Given the description of an element on the screen output the (x, y) to click on. 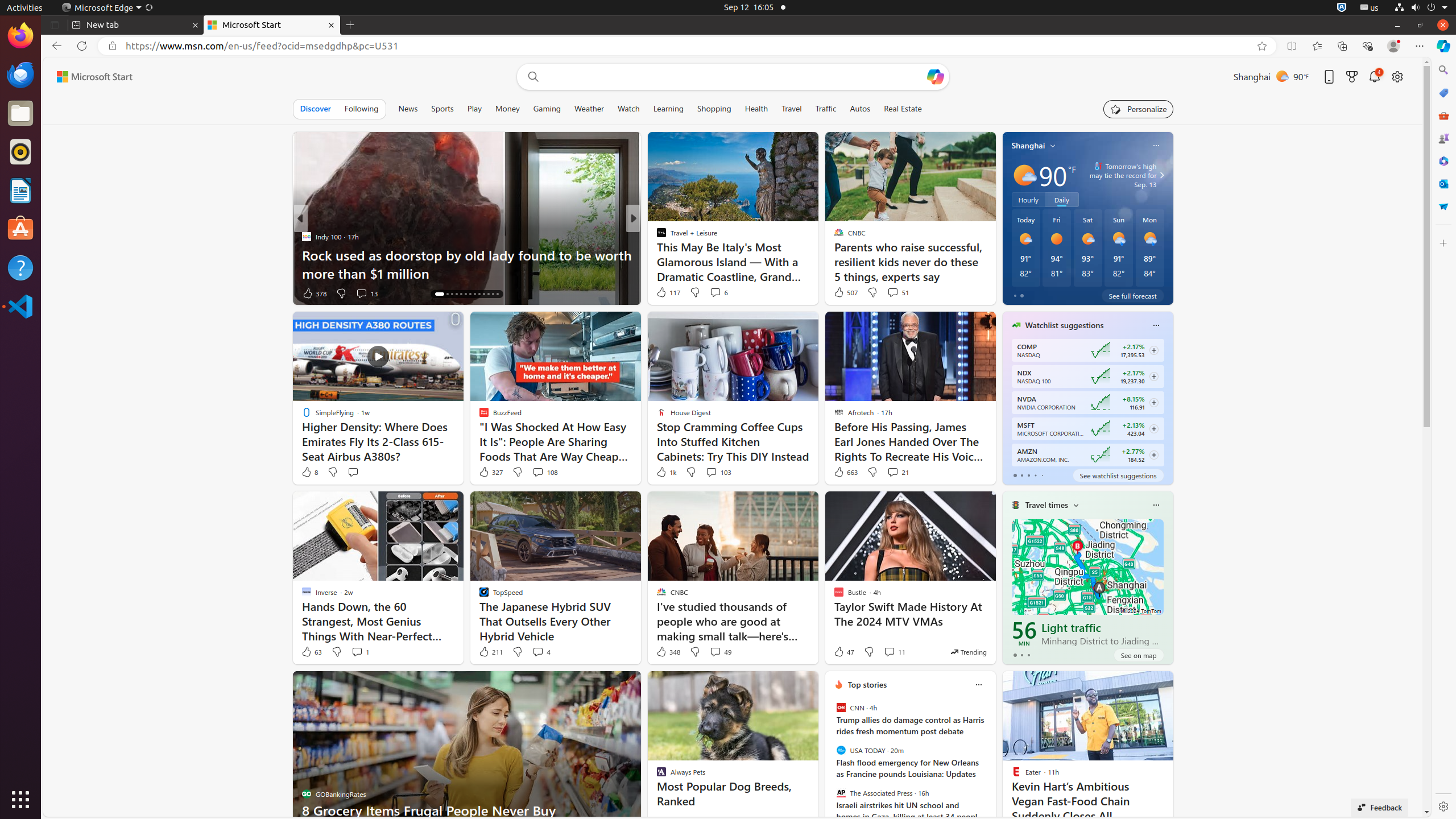
Rhythmbox Element type: push-button (20, 151)
Tomorrow's high may tie the record for Sep. 13 Element type: link (1120, 174)
Ubuntu Software Element type: push-button (20, 229)
Back Element type: push-button (54, 45)
View comments 27 Comment Element type: link (716, 292)
